Given the description of an element on the screen output the (x, y) to click on. 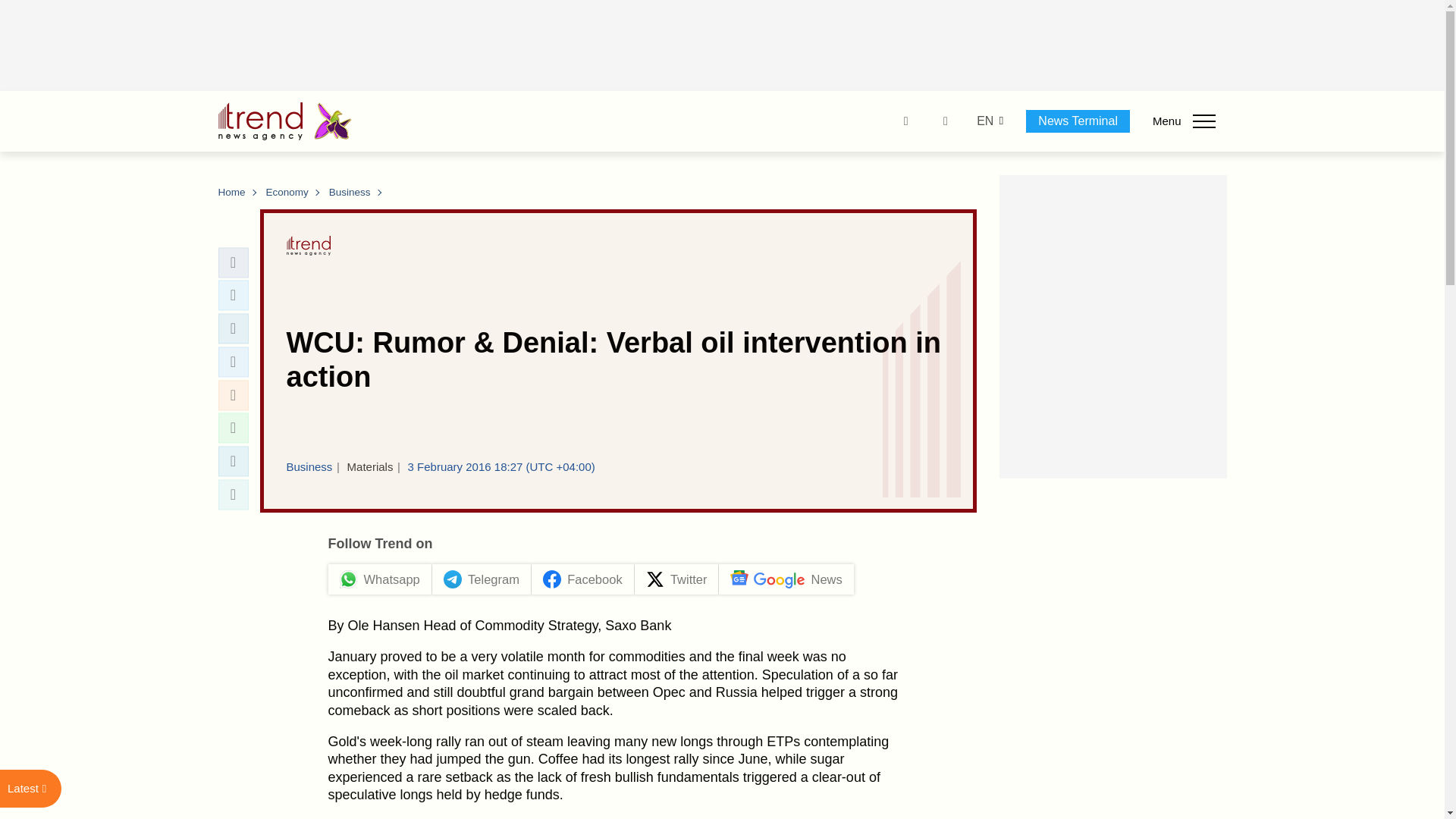
News Terminal (1077, 120)
English (984, 121)
EN (984, 121)
